Given the description of an element on the screen output the (x, y) to click on. 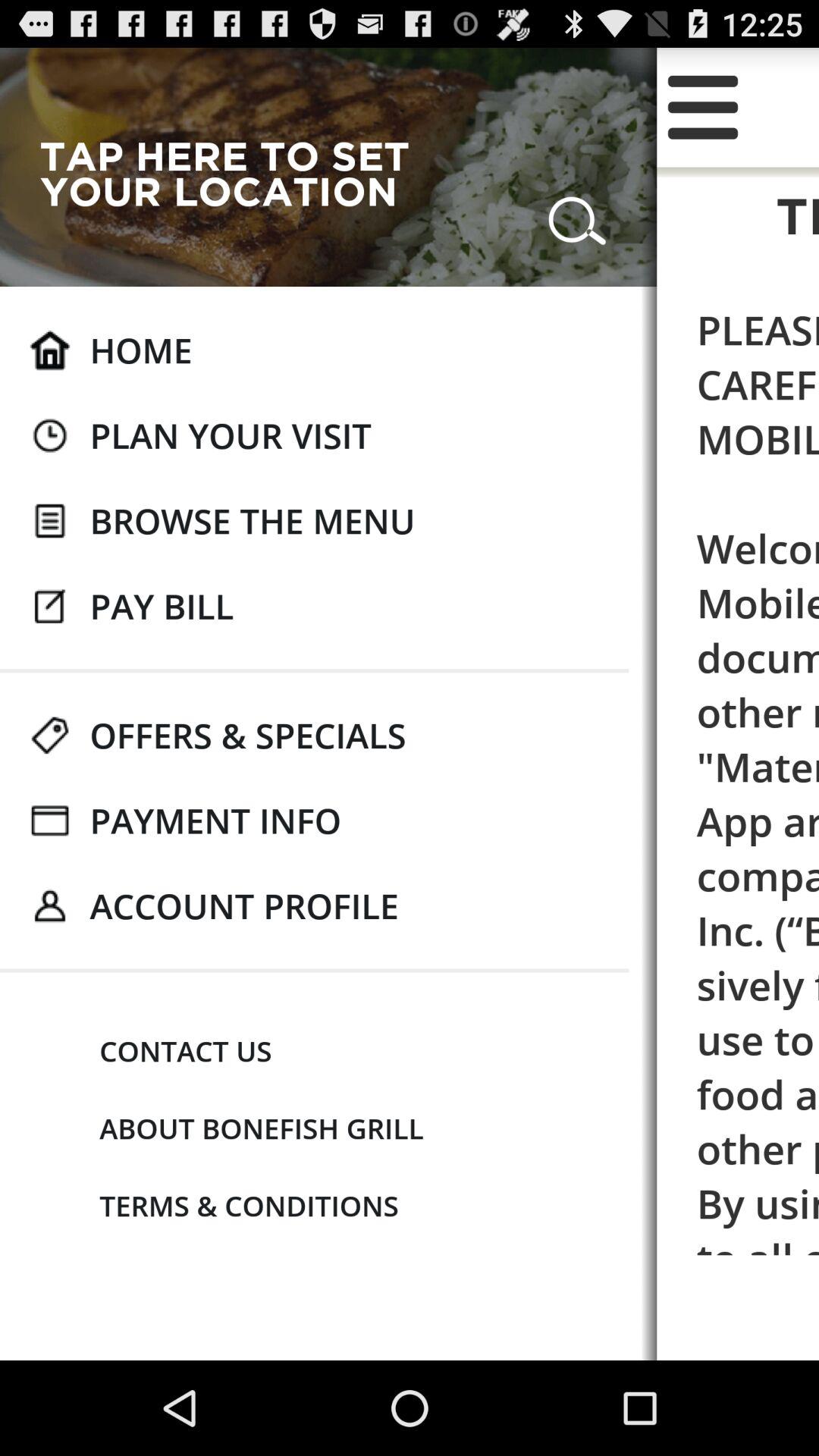
scroll to offers & specials (247, 735)
